Given the description of an element on the screen output the (x, y) to click on. 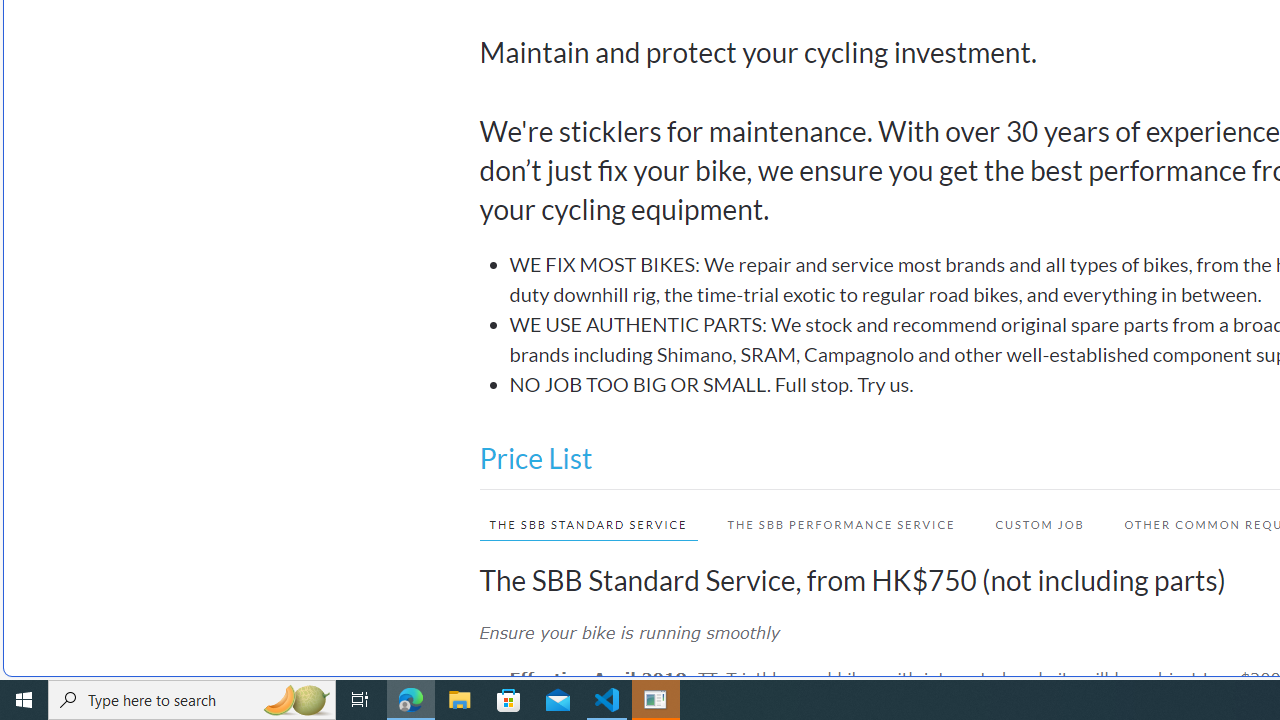
THE SBB STANDARD SERVICE (578, 524)
CUSTOM JOB (1029, 524)
THE SBB PERFORMANCE SERVICE (841, 524)
CUSTOM JOB (1039, 524)
THE SBB STANDARD SERVICE (587, 524)
THE SBB PERFORMANCE SERVICE (831, 524)
